Given the description of an element on the screen output the (x, y) to click on. 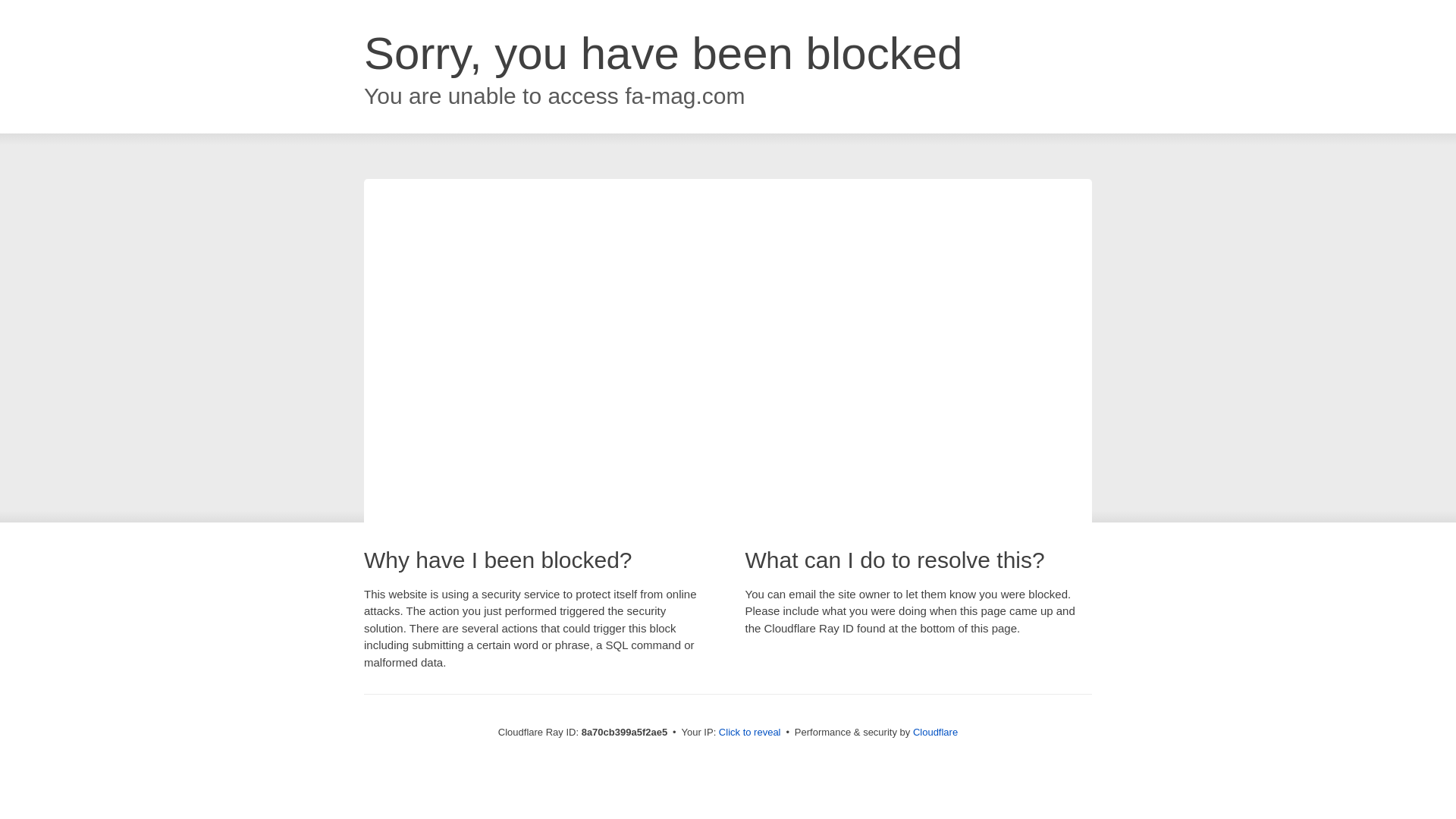
Click to reveal (749, 732)
Cloudflare (935, 731)
